Given the description of an element on the screen output the (x, y) to click on. 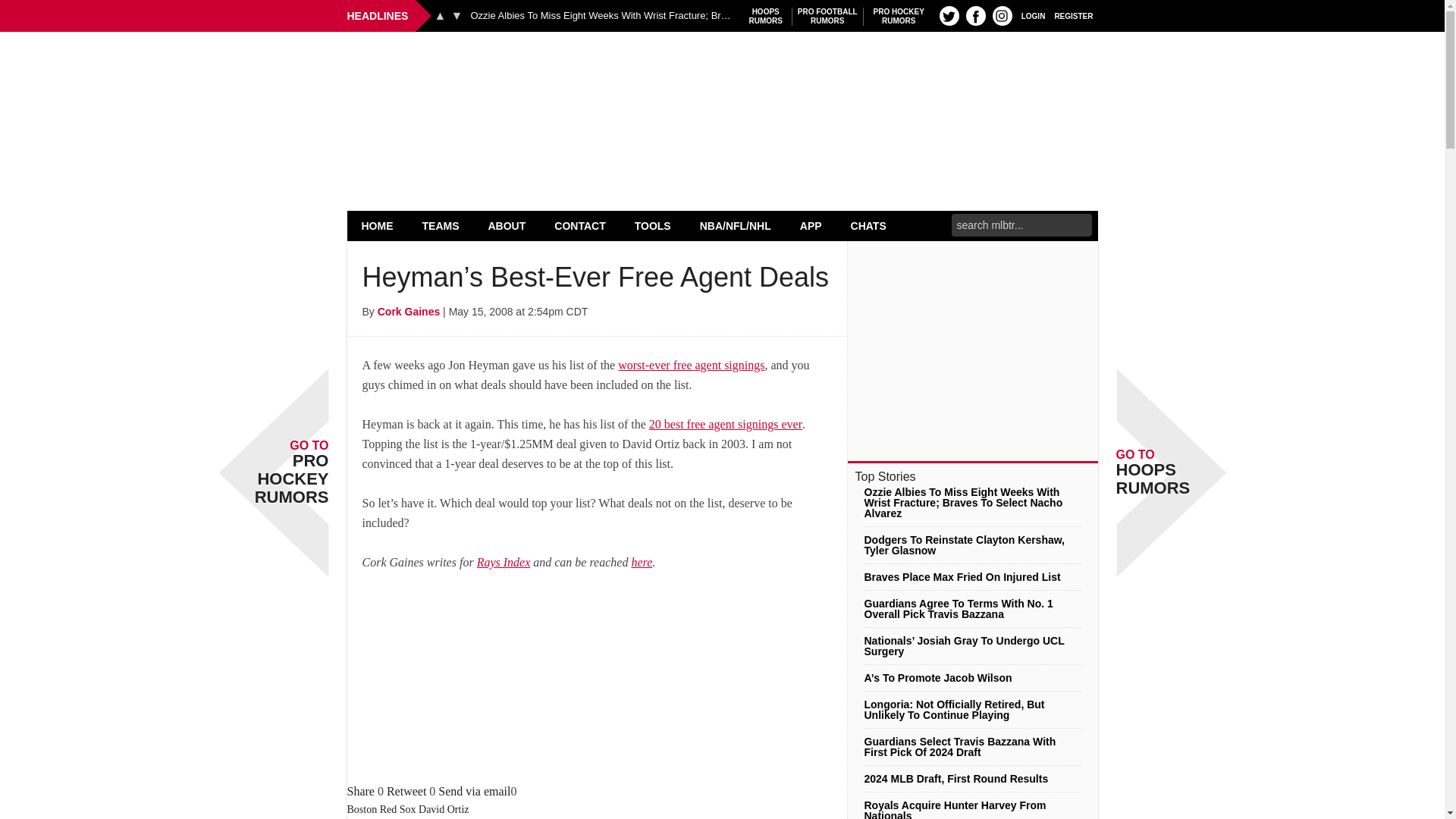
MLB Trade Rumors (722, 69)
Next (456, 15)
HOME (377, 225)
REGISTER (1073, 15)
Instagram profile (827, 16)
Previous (765, 16)
Search (1001, 15)
Twitter profile (439, 15)
LOGIN (898, 16)
TEAMS (949, 15)
